Given the description of an element on the screen output the (x, y) to click on. 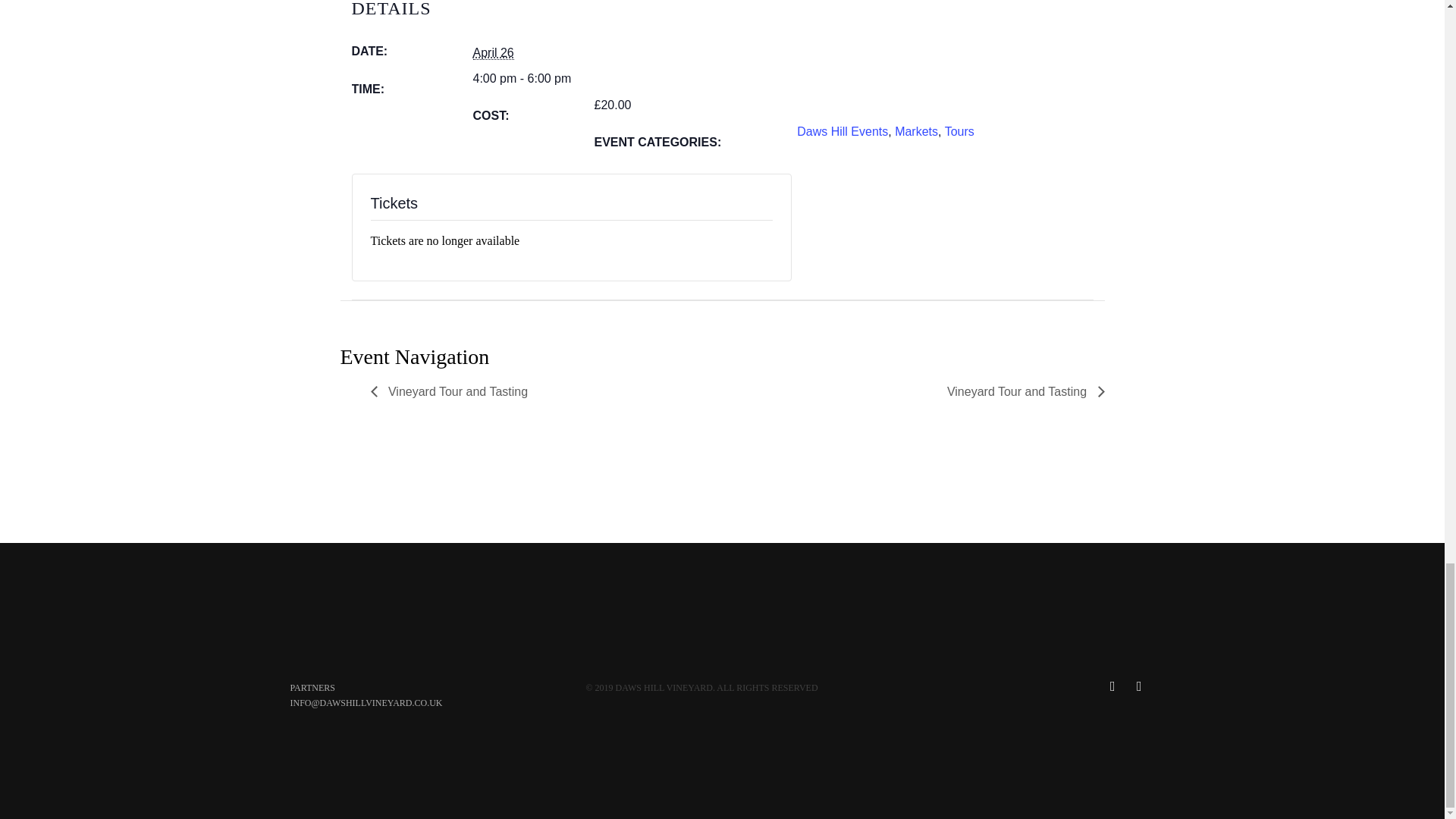
Vineyard Tour and Tasting (452, 391)
Daws Hill Events (842, 131)
PARTNERS (311, 687)
Vineyard Tour and Tasting (1022, 391)
Tours (959, 131)
Markets (916, 131)
